Given the description of an element on the screen output the (x, y) to click on. 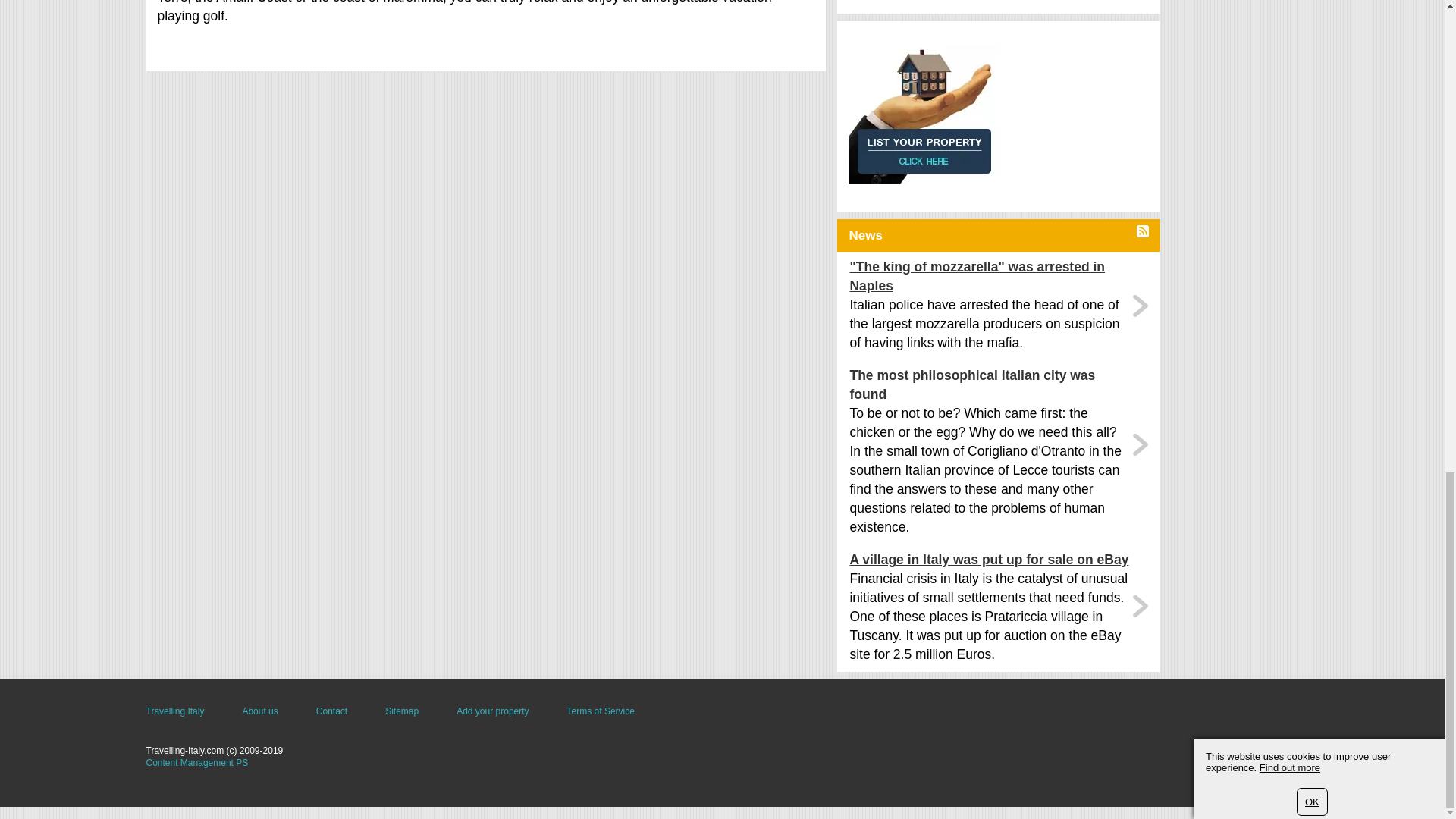
"The king of mozzarella" was arrested in Naples (988, 276)
Sitemap (402, 710)
Travelling Italy (174, 710)
Terms of Service (600, 710)
Content Management (196, 762)
Content Management PS (196, 762)
The most philosophical Italian city was found (988, 385)
Add your property (492, 710)
A village in Italy was put up for sale on eBay (988, 559)
About us (259, 710)
